Given the description of an element on the screen output the (x, y) to click on. 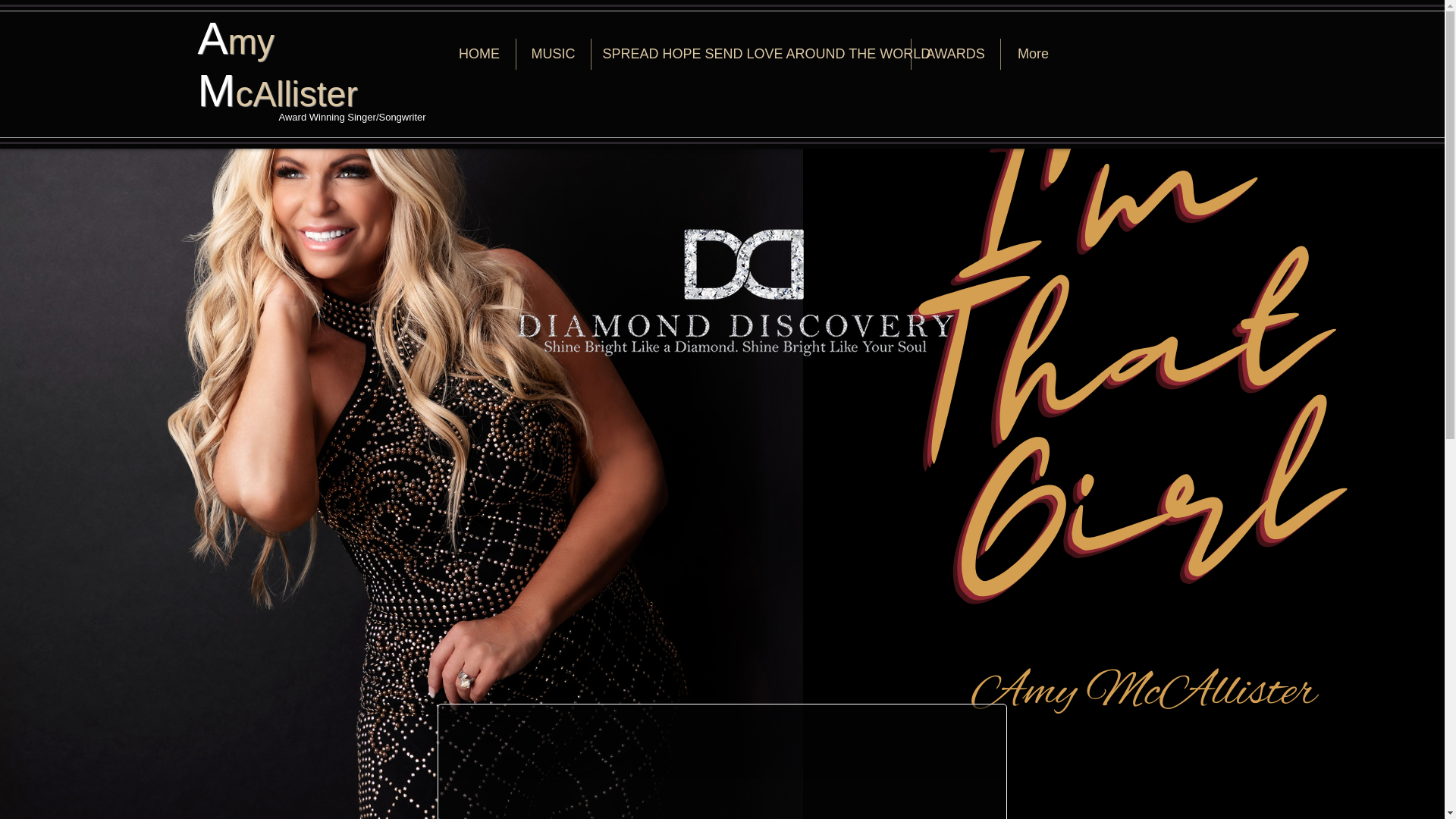
my (251, 41)
HOME (478, 53)
MUSIC (552, 53)
cAllister (295, 93)
SPREAD HOPE SEND LOVE AROUND THE WORLD (751, 53)
AWARDS (955, 53)
